Given the description of an element on the screen output the (x, y) to click on. 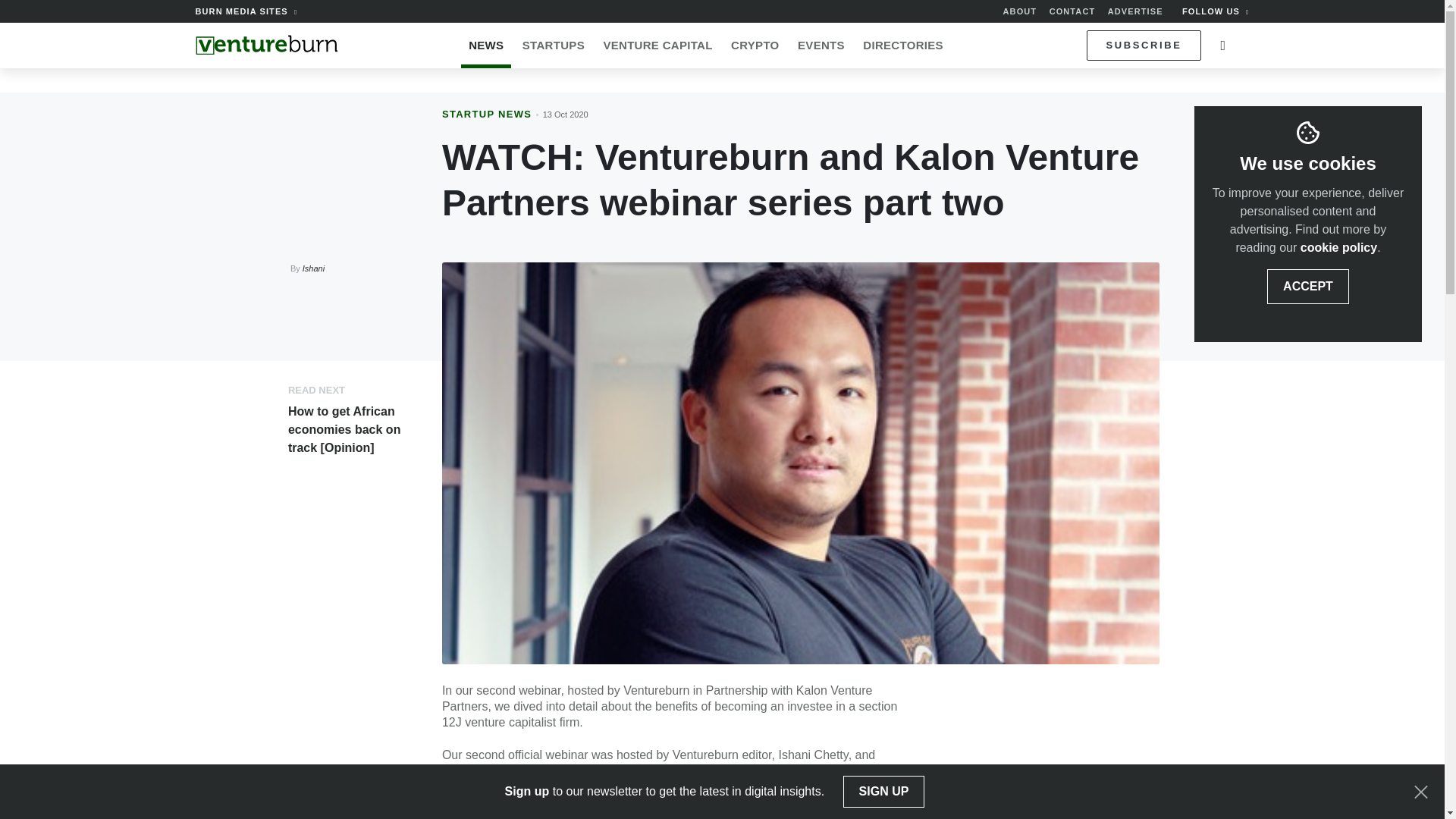
BURN MEDIA SITES (246, 10)
ADVERTISE (1135, 10)
CONTACT (1072, 10)
FOLLOW US (1215, 10)
ABOUT (1019, 10)
